Given the description of an element on the screen output the (x, y) to click on. 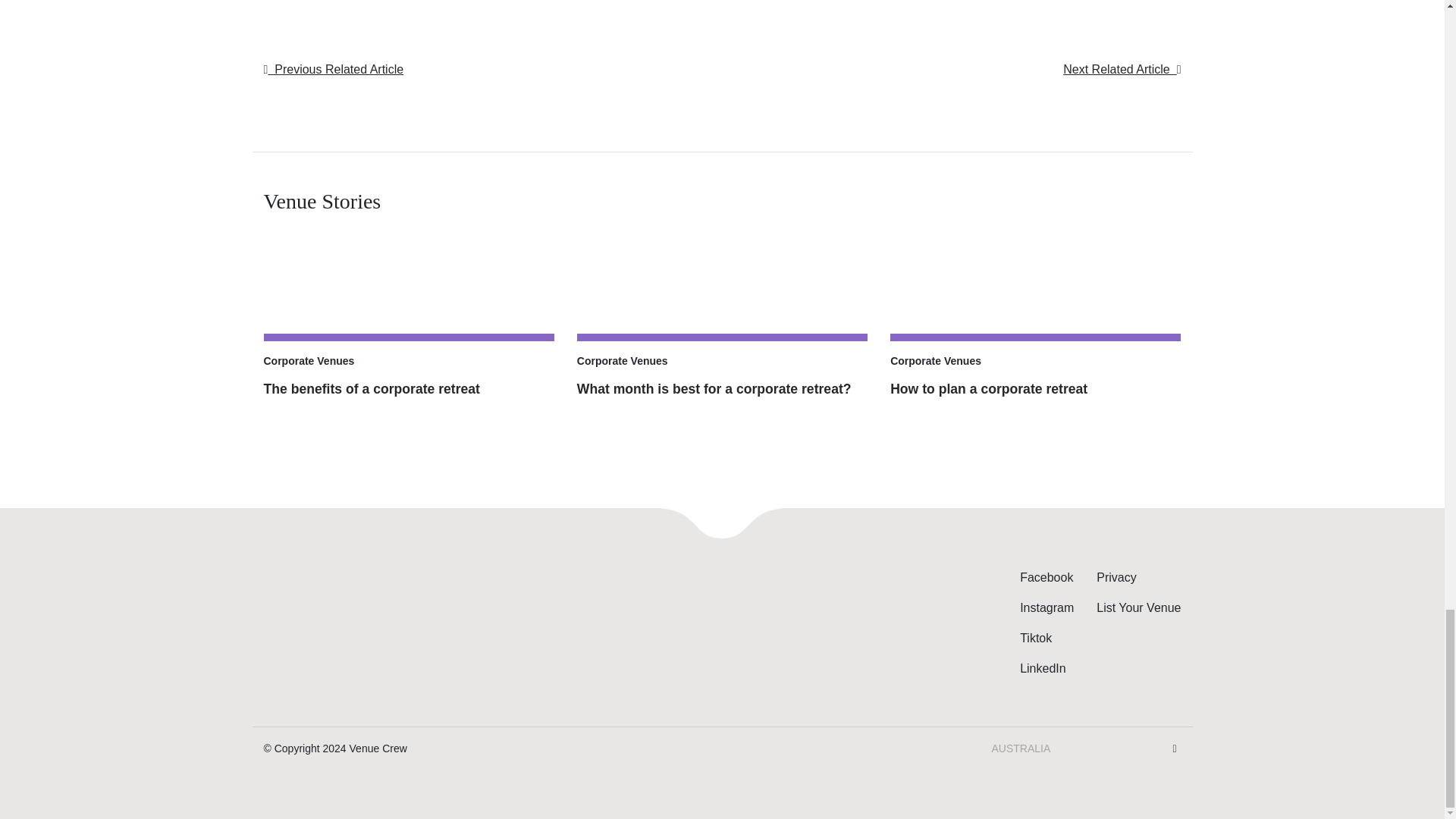
LinkedIn (1042, 667)
List Your Venue (1138, 607)
What month is best for a corporate retreat? (721, 403)
  Previous Related Article (333, 69)
Privacy (1115, 576)
Facebook (1046, 576)
Facebook (1046, 576)
Next Related Article   (1121, 69)
LinkedIn (1042, 667)
Corporate Venues (935, 360)
